Given the description of an element on the screen output the (x, y) to click on. 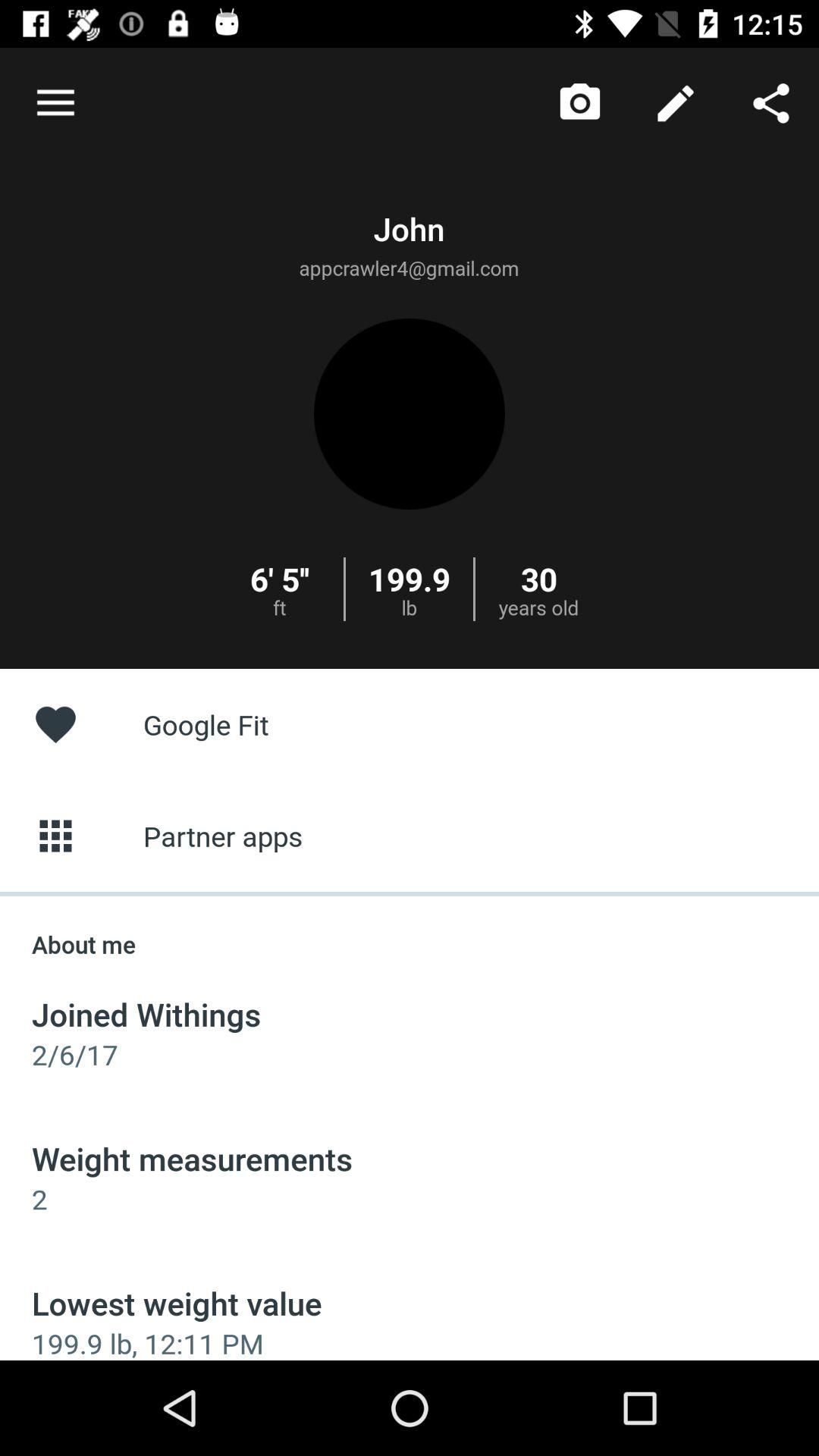
flip to google fit icon (409, 724)
